Given the description of an element on the screen output the (x, y) to click on. 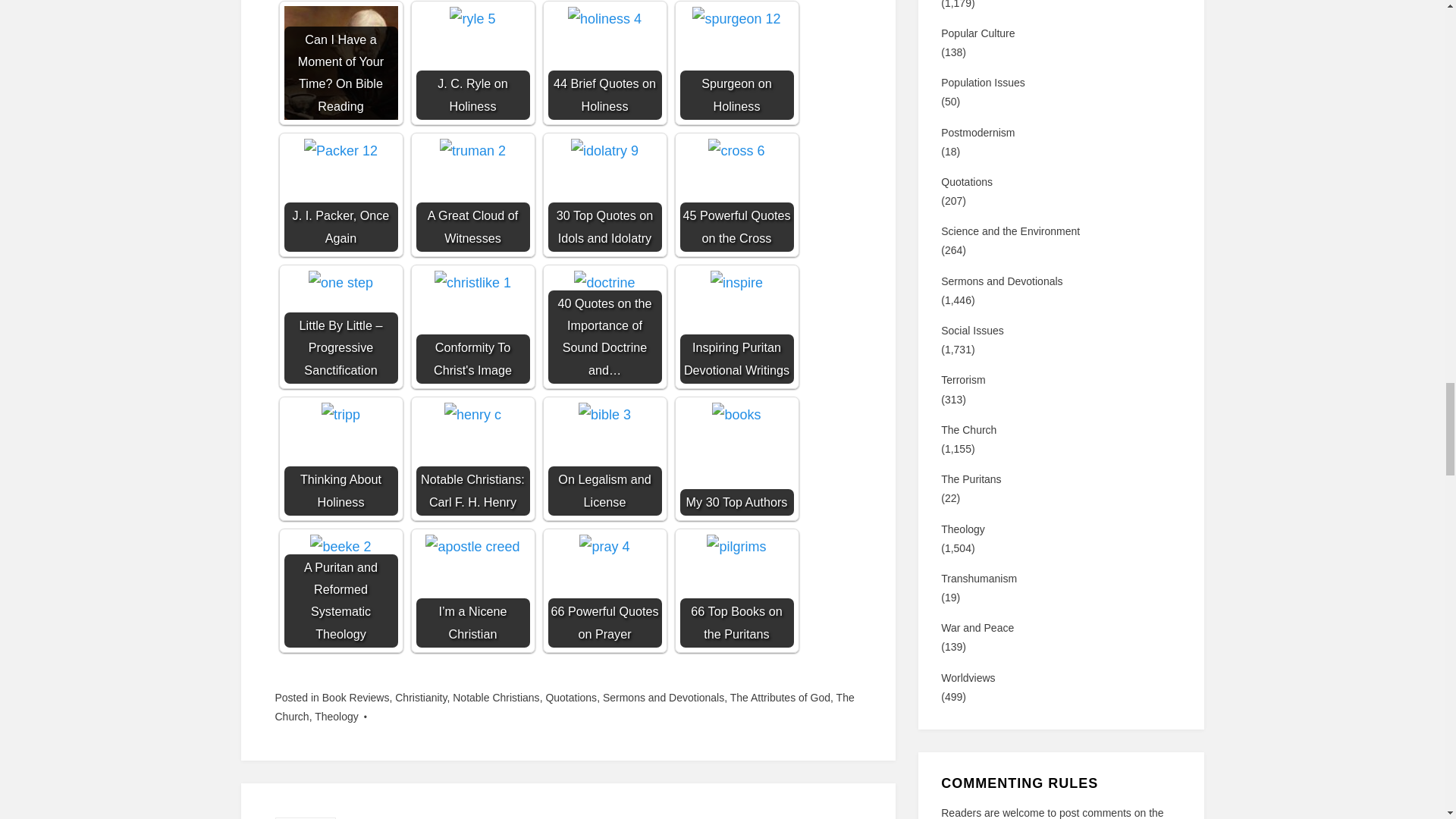
66 Top Books on the Puritans (736, 590)
J. I. Packer, Once Again (340, 194)
Inspiring Puritan Devotional Writings (736, 282)
Christianity (420, 697)
Quotations (570, 697)
Book Reviews (355, 697)
J. C. Ryle on Holiness (471, 62)
A Great Cloud of Witnesses (472, 150)
45 Powerful Quotes on the Cross (736, 194)
44 Brief Quotes on Holiness (604, 62)
